Given the description of an element on the screen output the (x, y) to click on. 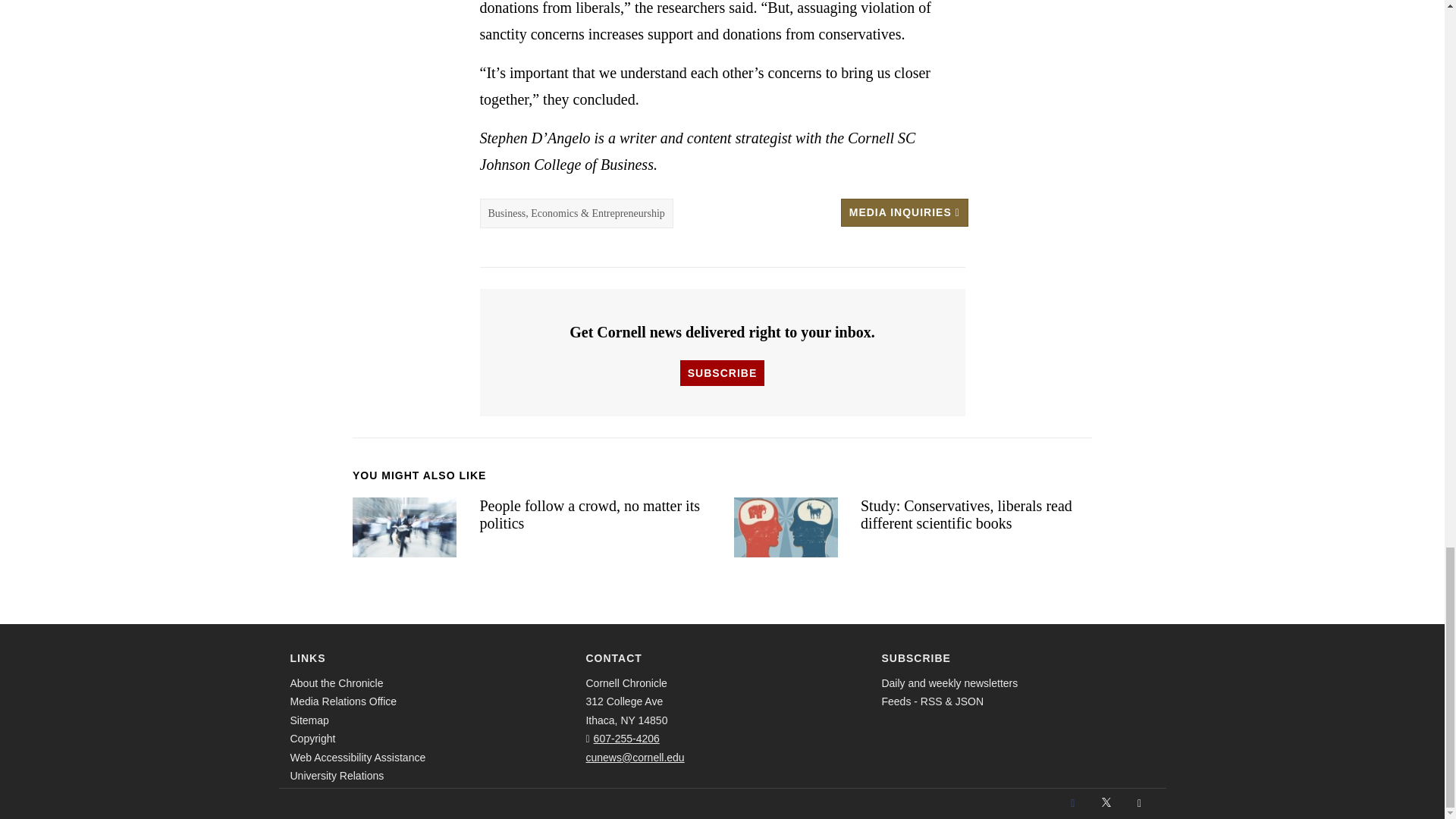
People follow a crowd, no matter its politics (404, 526)
